Given the description of an element on the screen output the (x, y) to click on. 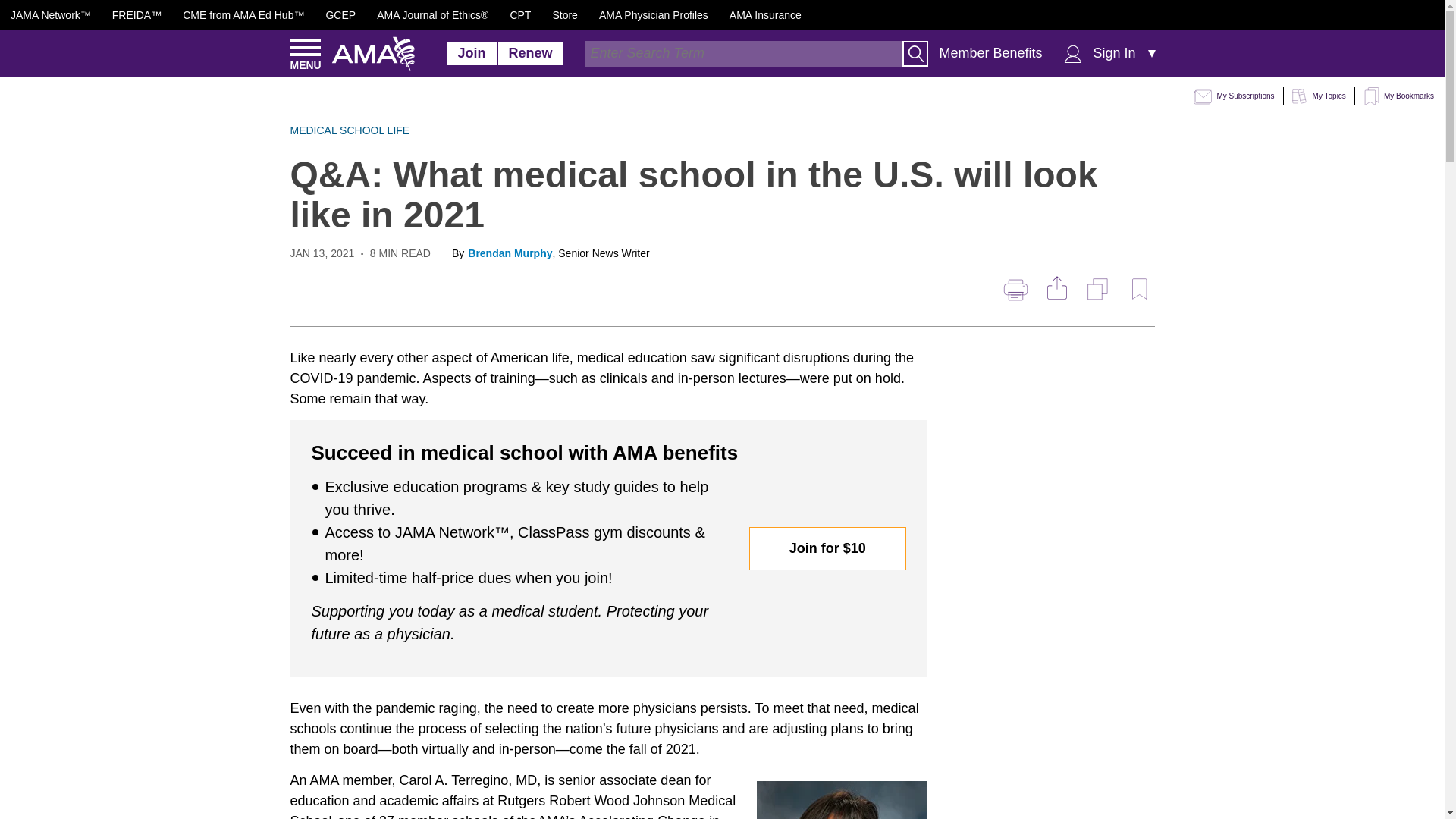
Store (563, 15)
Member Benefits (990, 52)
Bio link (509, 253)
CPT (520, 15)
Sign In (1115, 53)
GCEP (339, 15)
Copy (1098, 289)
AMA Physician Profiles (652, 15)
Search (915, 53)
Print Page (1015, 289)
Share (1053, 287)
AMA Insurance (765, 15)
